Given the description of an element on the screen output the (x, y) to click on. 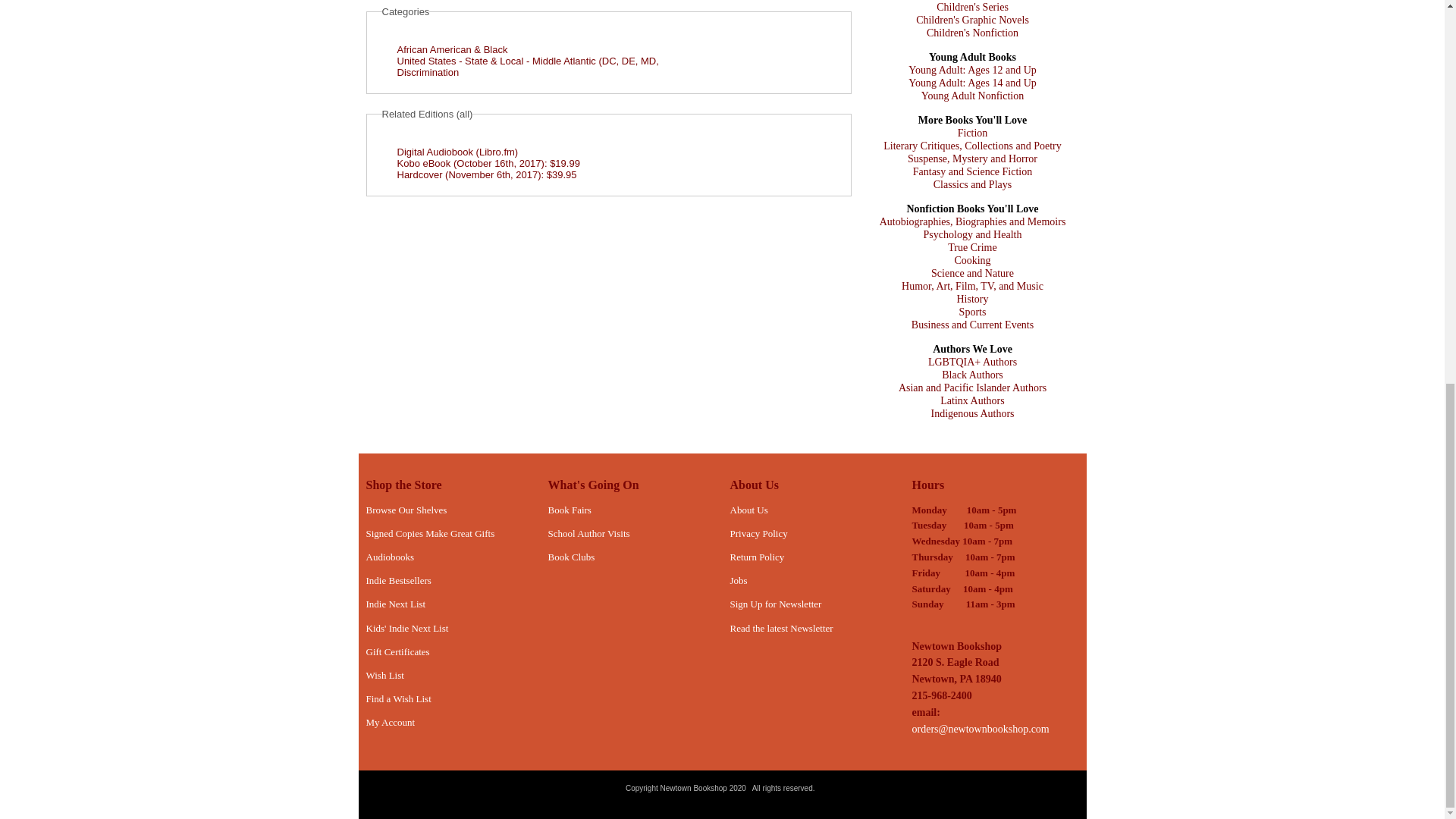
Discrimination (428, 71)
